Given the description of an element on the screen output the (x, y) to click on. 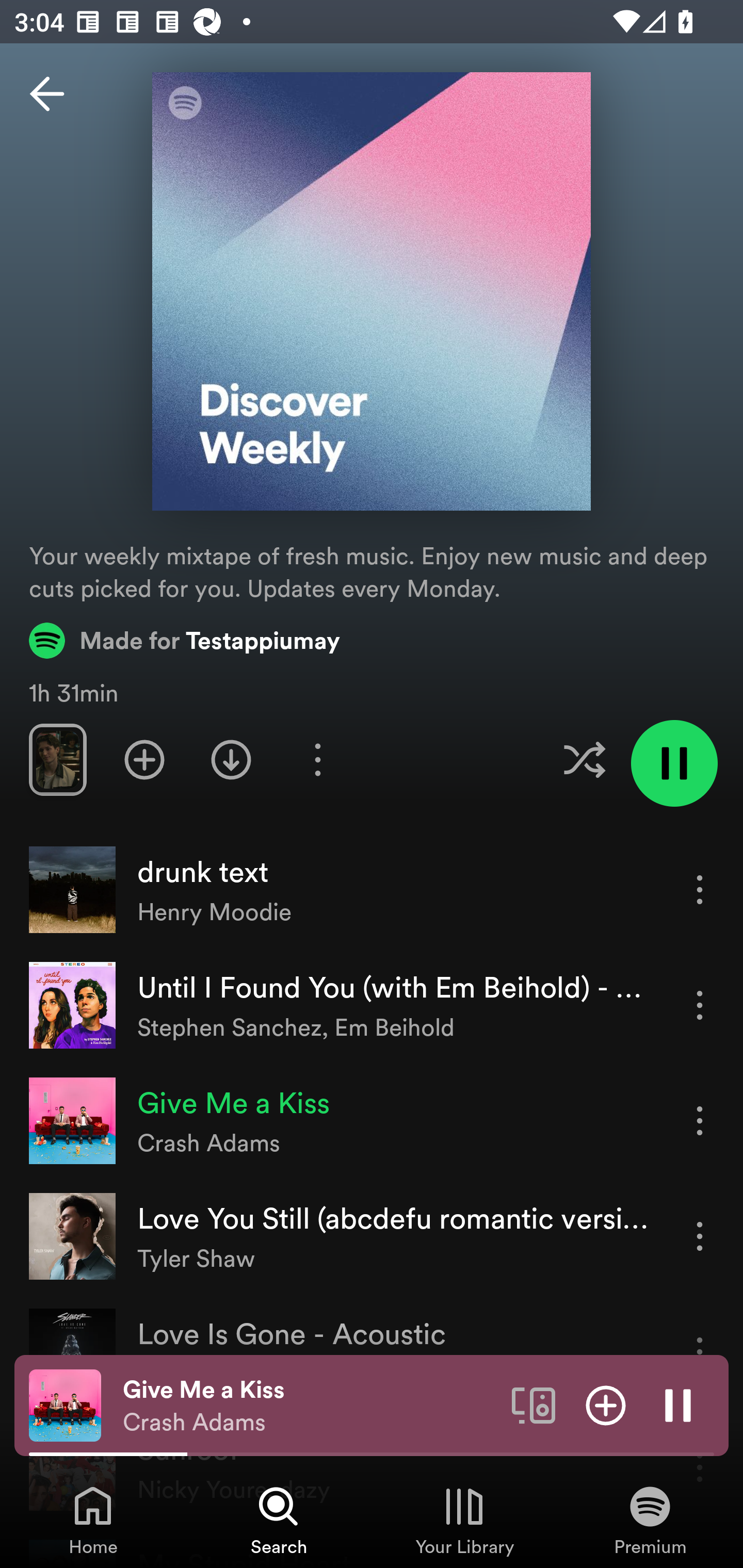
Back (46, 93)
Made for Testappiumay (184, 640)
Swipe through previews of tracks in this playlist. (57, 759)
Add playlist to Your Library (144, 759)
Download (230, 759)
More options for playlist Discover Weekly (317, 759)
Enable shuffle for this playlist (583, 759)
Pause playlist (674, 763)
More options for song drunk text (699, 889)
More options for song Give Me a Kiss (699, 1120)
Give Me a Kiss Crash Adams (309, 1405)
The cover art of the currently playing track (64, 1404)
